Given the description of an element on the screen output the (x, y) to click on. 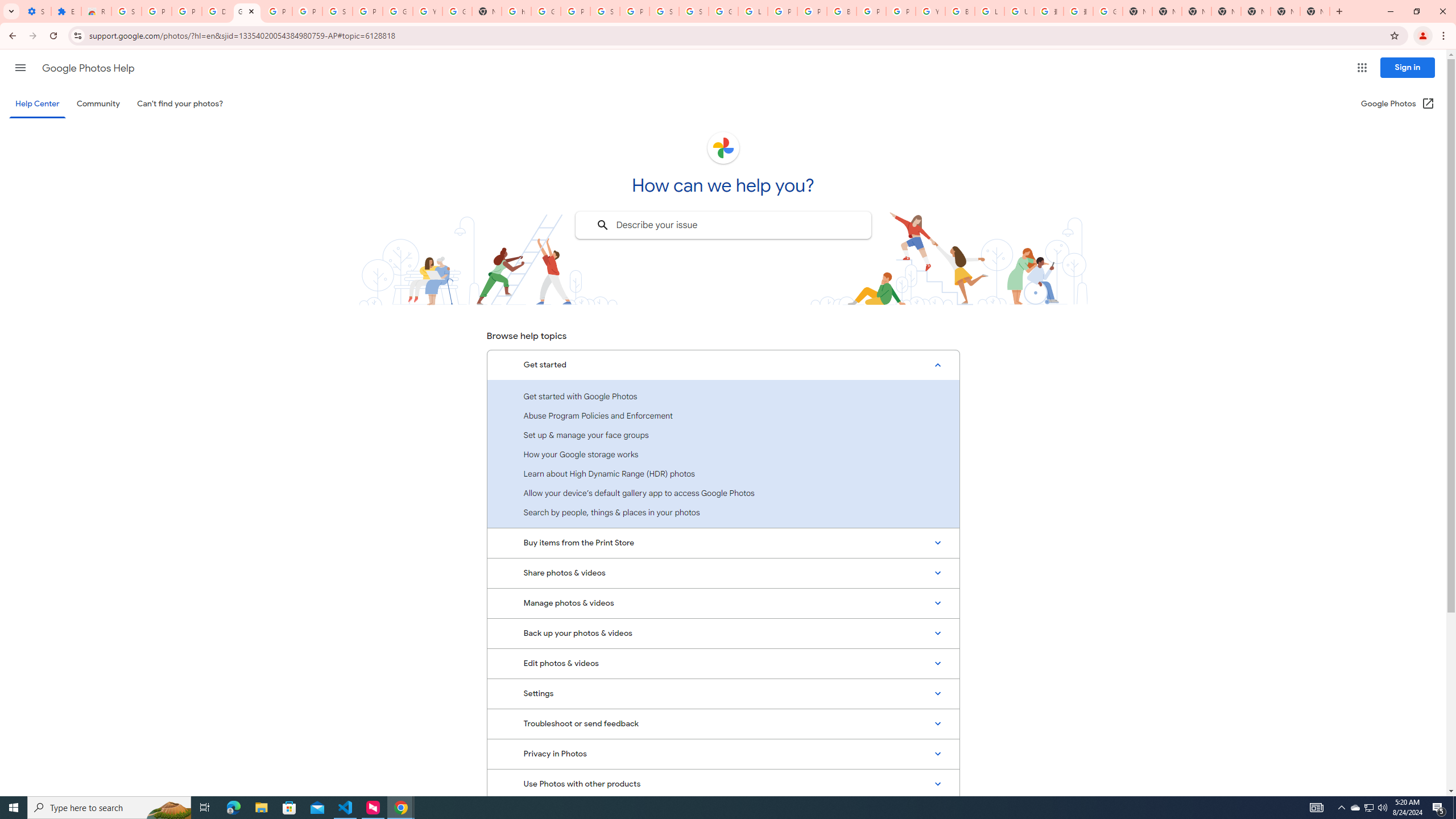
Abuse Program Policies and Enforcement (722, 415)
YouTube (426, 11)
Privacy Help Center - Policies Help (811, 11)
Privacy in Photos (722, 754)
Get started, Expanded list with 7 items (722, 365)
Google Images (1107, 11)
Google Account (397, 11)
Can't find your photos? (180, 103)
How your Google storage works (722, 454)
Share photos & videos (722, 573)
